Given the description of an element on the screen output the (x, y) to click on. 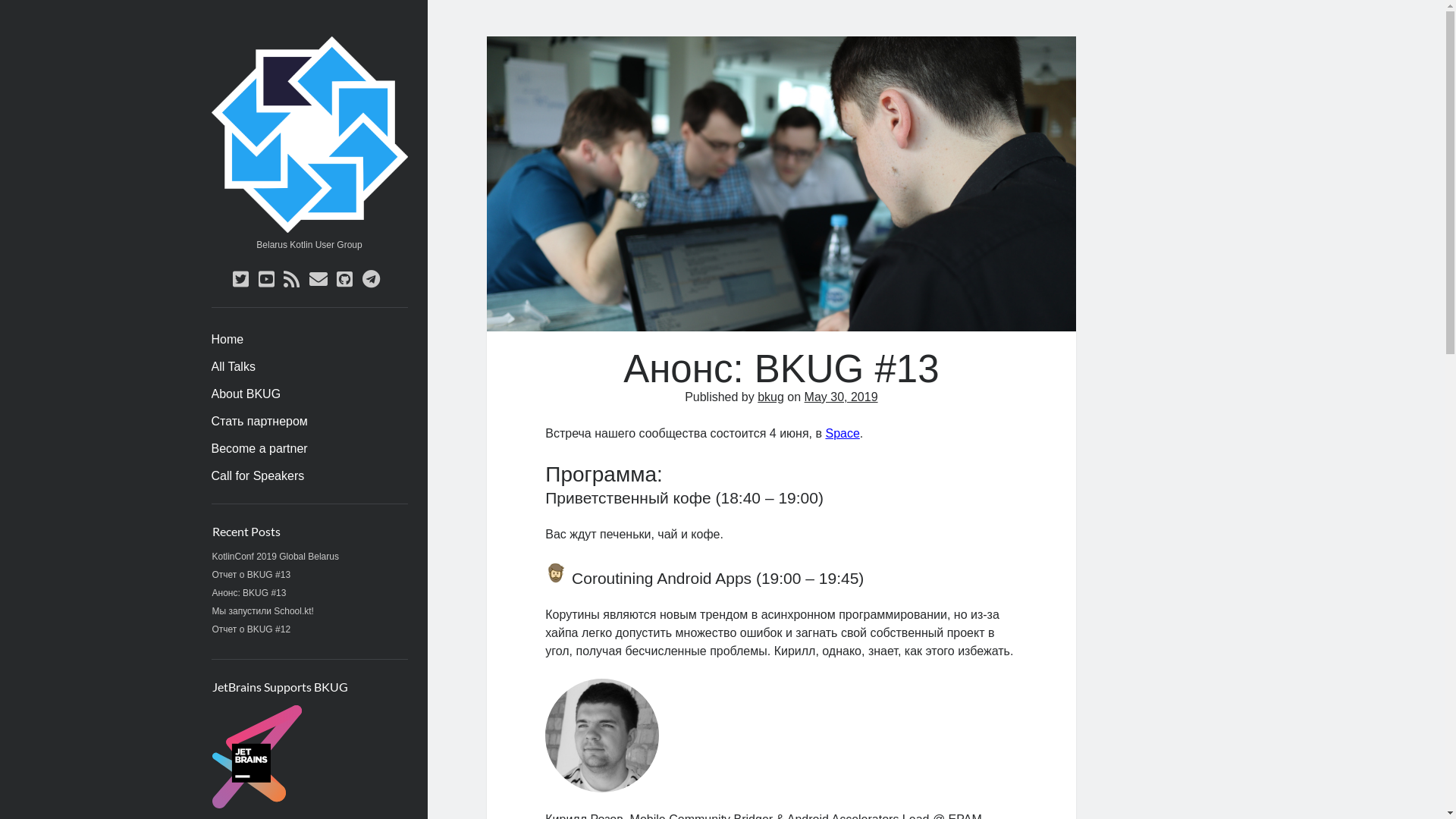
Belarus Kotlin User Group Element type: text (308, 227)
Home Element type: text (226, 339)
rss Element type: text (291, 278)
bkug Element type: text (770, 396)
Space Element type: text (842, 432)
Call for Speakers Element type: text (257, 476)
About BKUG Element type: text (245, 394)
May 30, 2019 Element type: text (841, 396)
email Element type: text (318, 278)
telegram Element type: text (370, 278)
github Element type: text (344, 278)
Practical Element type: hover (556, 572)
twitter Element type: text (240, 278)
All Talks Element type: text (232, 366)
youtube Element type: text (266, 278)
KotlinConf 2019 Global Belarus Element type: text (275, 556)
Become a partner Element type: text (258, 448)
